Given the description of an element on the screen output the (x, y) to click on. 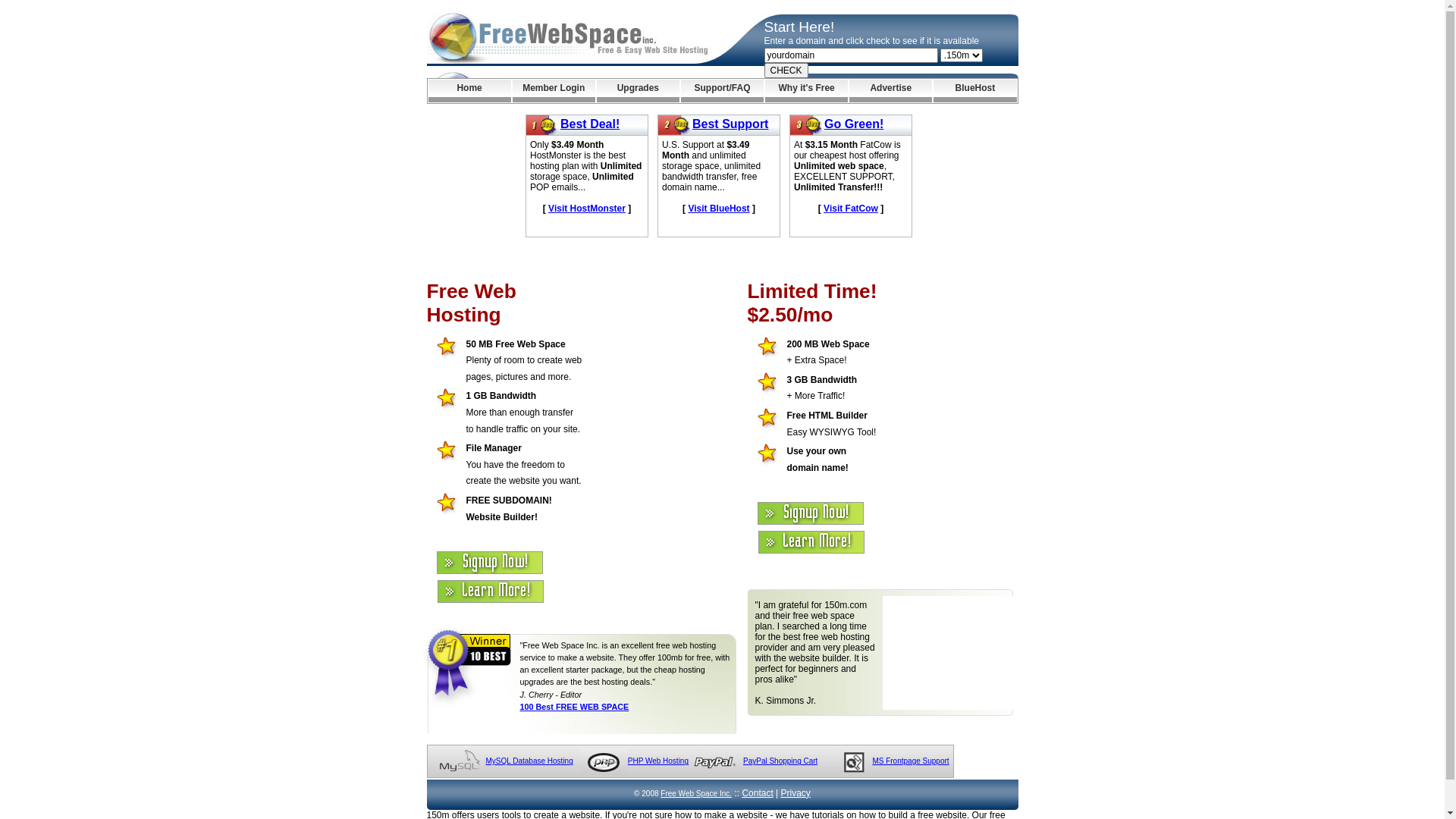
Member Login Element type: text (553, 90)
Upgrades Element type: text (637, 90)
MS Frontpage Support Element type: text (910, 760)
PayPal Shopping Cart Element type: text (780, 760)
Home Element type: text (468, 90)
Contact Element type: text (756, 792)
Privacy Element type: text (795, 792)
PHP Web Hosting Element type: text (657, 760)
Advertise Element type: text (890, 90)
Why it's Free Element type: text (806, 90)
Support/FAQ Element type: text (721, 90)
100 Best FREE WEB SPACE Element type: text (574, 706)
Free Web Space Inc. Element type: text (695, 793)
CHECK Element type: text (786, 70)
BlueHost Element type: text (974, 90)
MySQL Database Hosting Element type: text (528, 760)
